Given the description of an element on the screen output the (x, y) to click on. 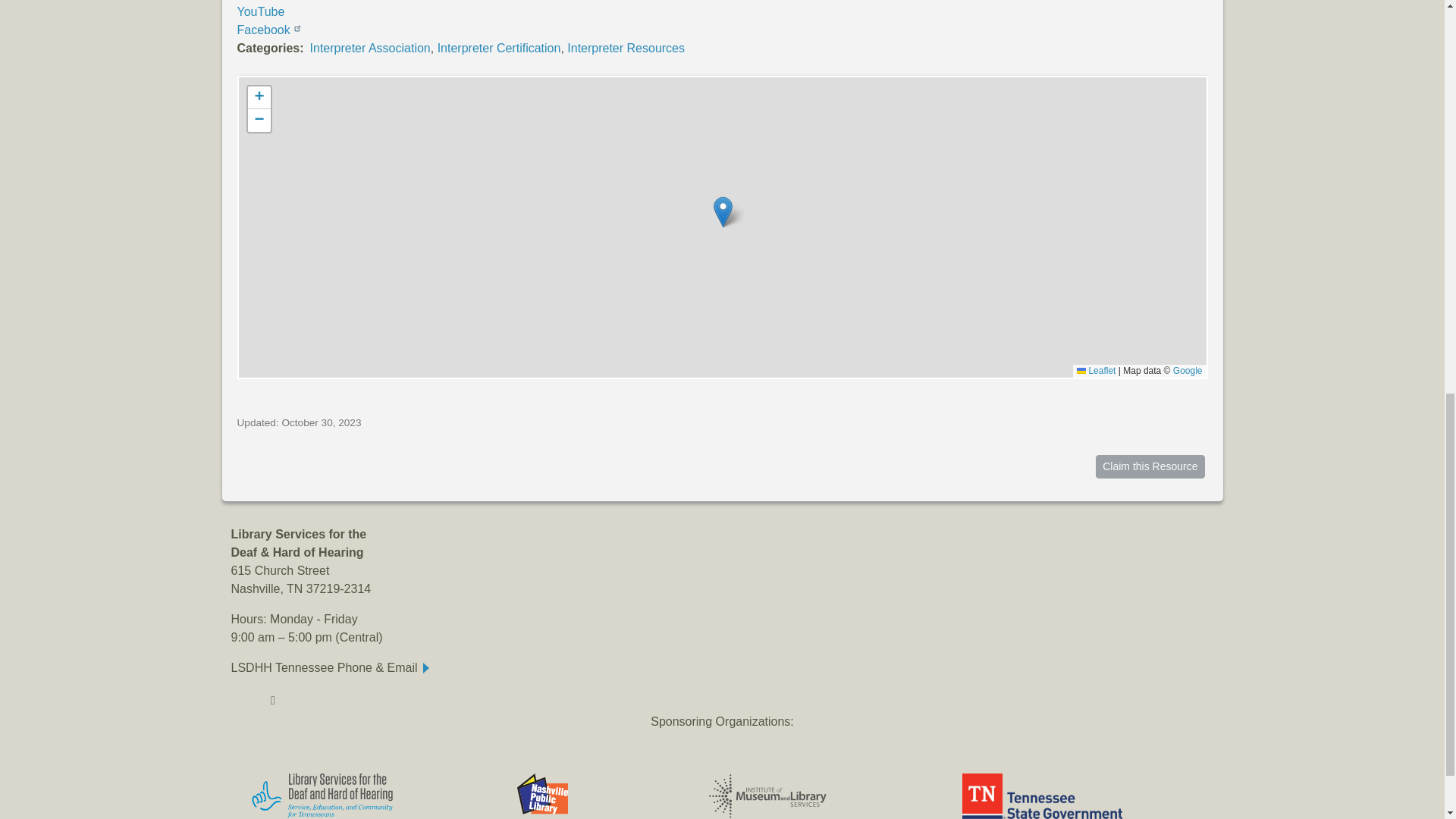
Zoom out (258, 119)
Zoom in (258, 97)
A JavaScript library for interactive maps (1096, 370)
